Given the description of an element on the screen output the (x, y) to click on. 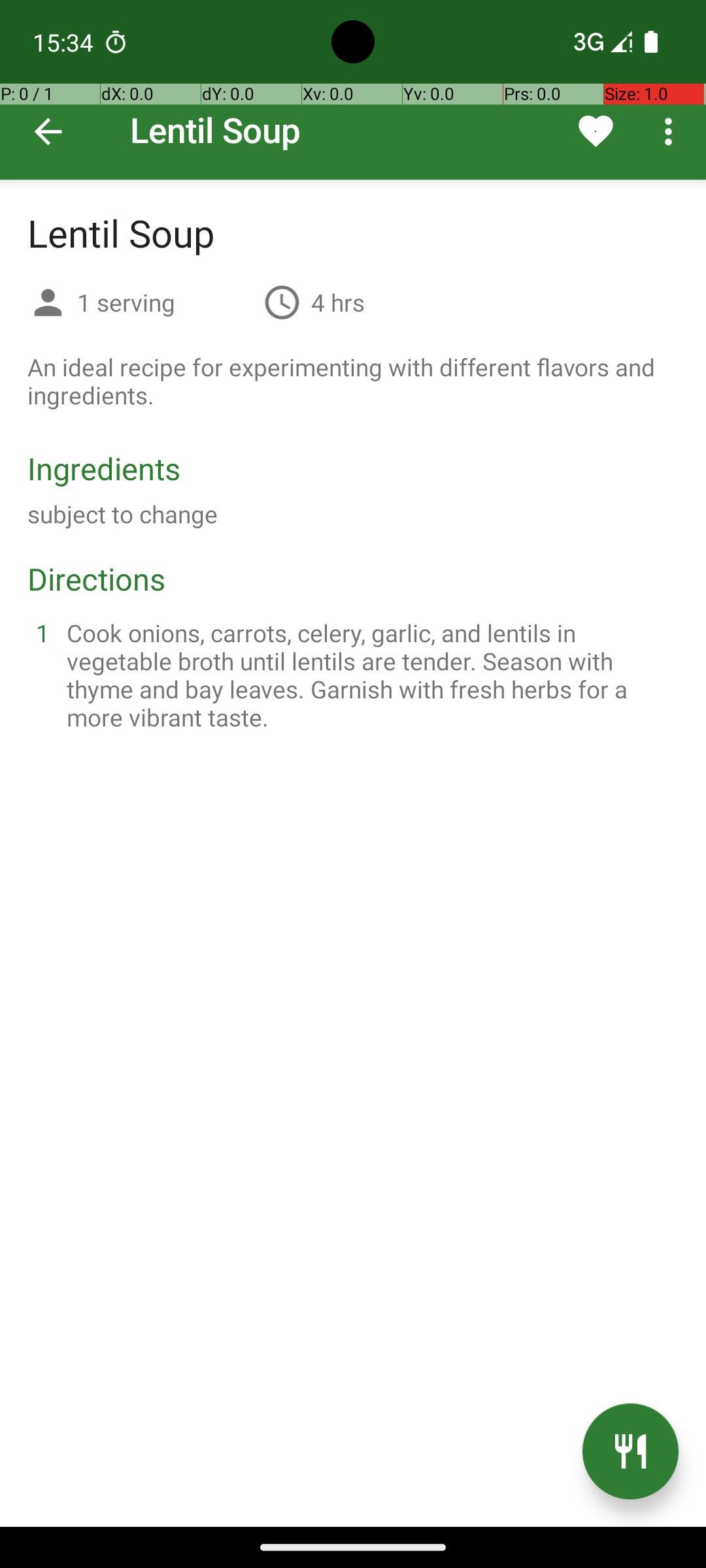
Cook onions, carrots, celery, garlic, and lentils in vegetable broth until lentils are tender. Season with thyme and bay leaves. Garnish with fresh herbs for a more vibrant taste. Element type: android.widget.TextView (368, 674)
